Given the description of an element on the screen output the (x, y) to click on. 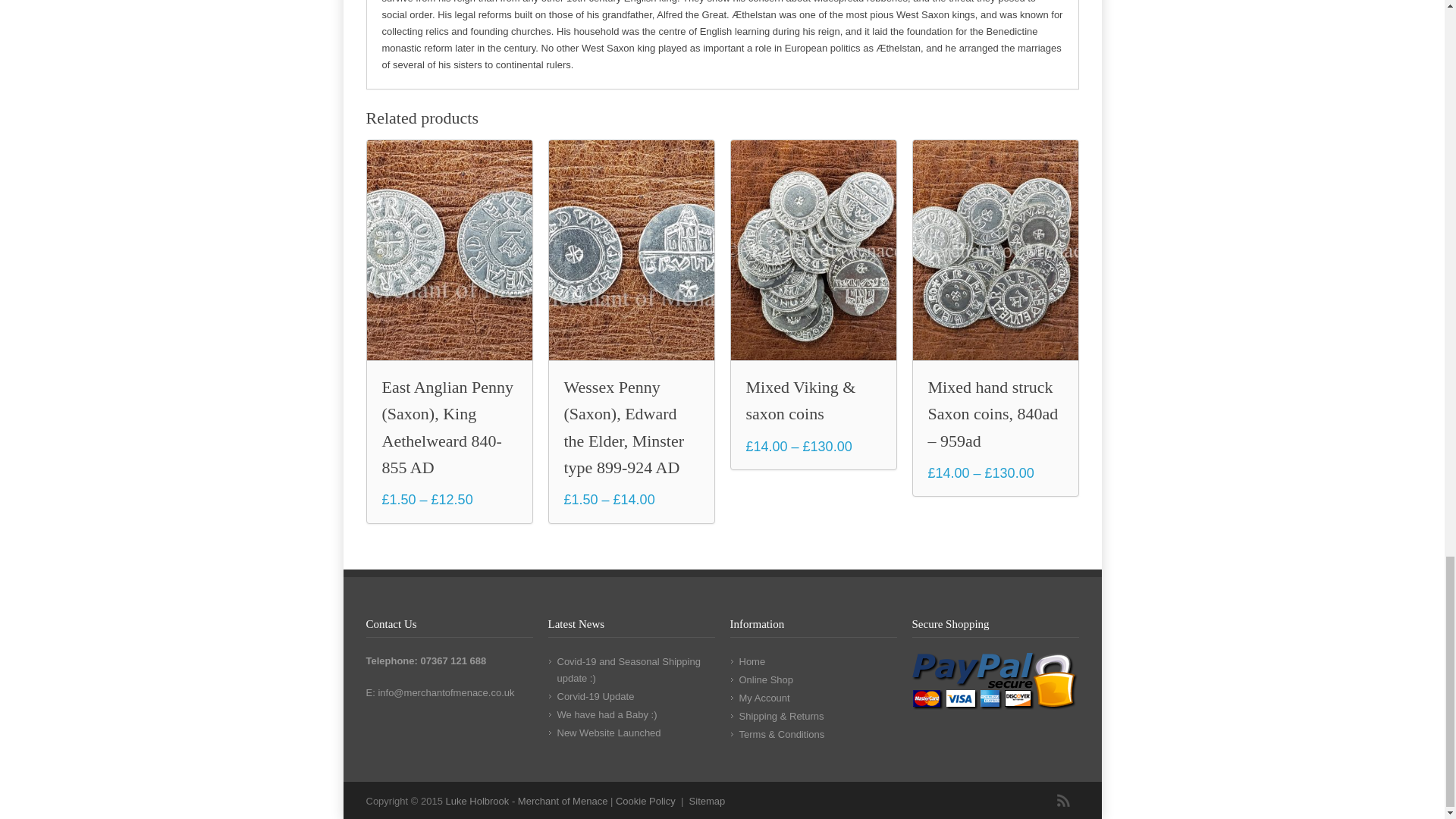
07367 121 688 (453, 660)
Secure Shopping (994, 682)
Home (751, 661)
Email (445, 692)
New Website Launched (608, 732)
Sitemap (706, 800)
Cookies (645, 800)
Merchant of Menace (526, 800)
Corvid-19 Update (594, 696)
Online Shop (765, 679)
